Given the description of an element on the screen output the (x, y) to click on. 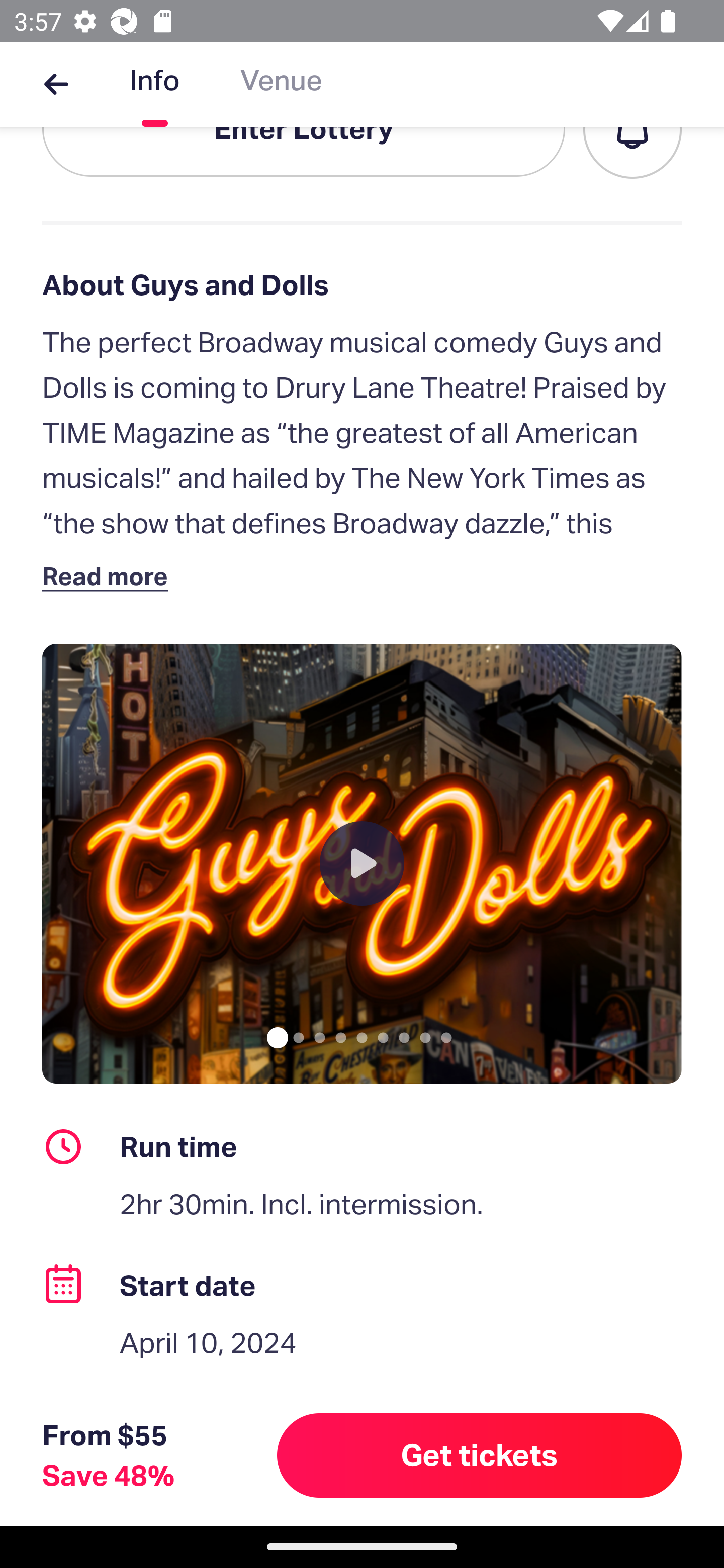
Venue (280, 84)
About Guys and Dolls (361, 284)
Read more (109, 576)
Get tickets (479, 1454)
